Given the description of an element on the screen output the (x, y) to click on. 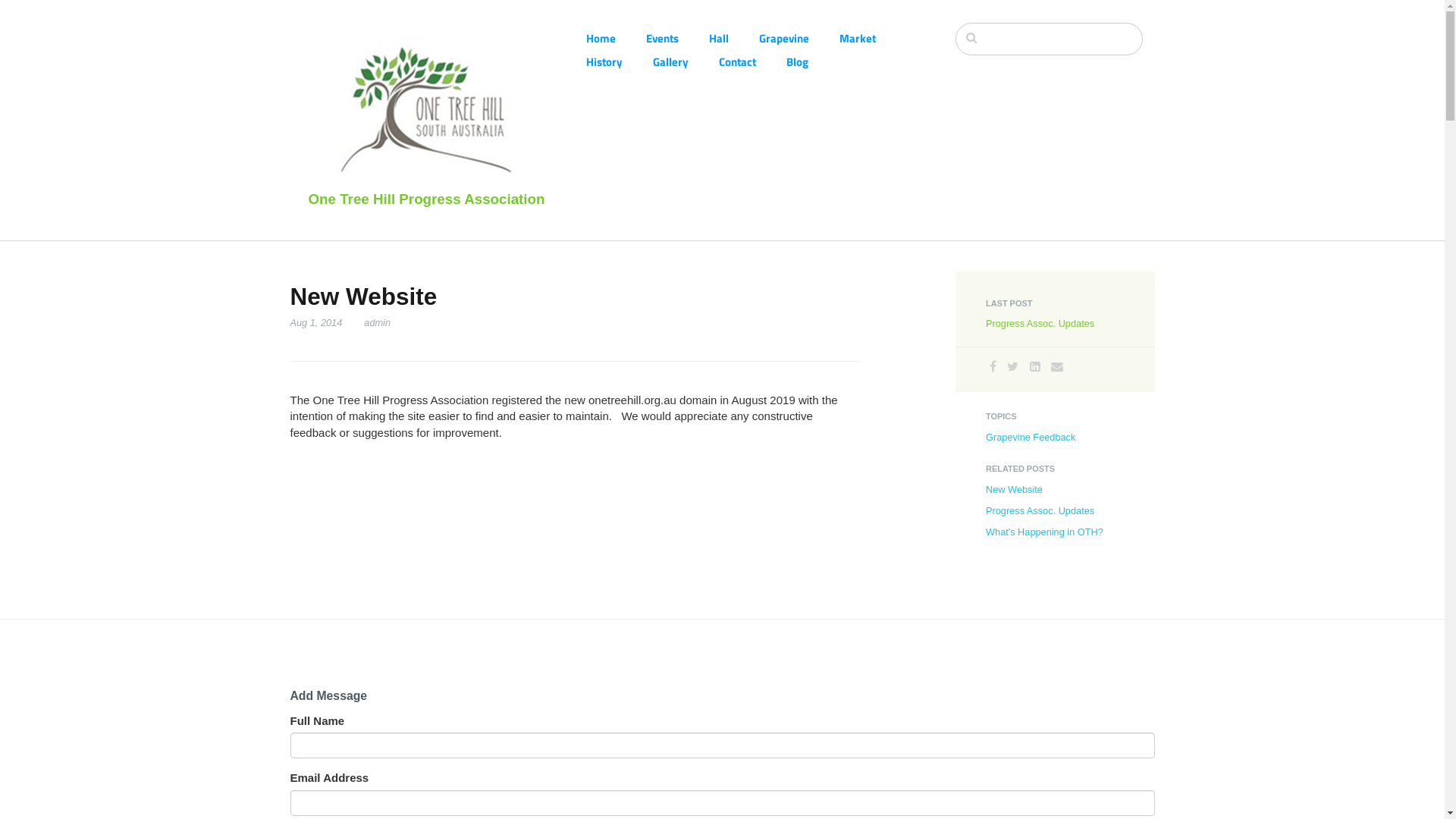
Progress Assoc. Updates Element type: text (1039, 323)
Contact Element type: text (752, 61)
What's Happening in OTH? Element type: text (1044, 531)
New Website Element type: text (1013, 489)
Email Element type: hover (1057, 366)
Twitter Element type: hover (1012, 366)
LinkedIn Element type: hover (1034, 366)
Facebook Element type: hover (992, 366)
Gallery Element type: text (685, 61)
Market Element type: text (871, 38)
Progress Assoc. Updates Element type: text (1039, 510)
Blog Element type: text (811, 61)
History Element type: text (618, 61)
Grapevine Feedback Element type: text (1030, 436)
Hall Element type: text (733, 38)
Grapevine Element type: text (798, 38)
Home Element type: text (615, 38)
Events Element type: text (677, 38)
